Given the description of an element on the screen output the (x, y) to click on. 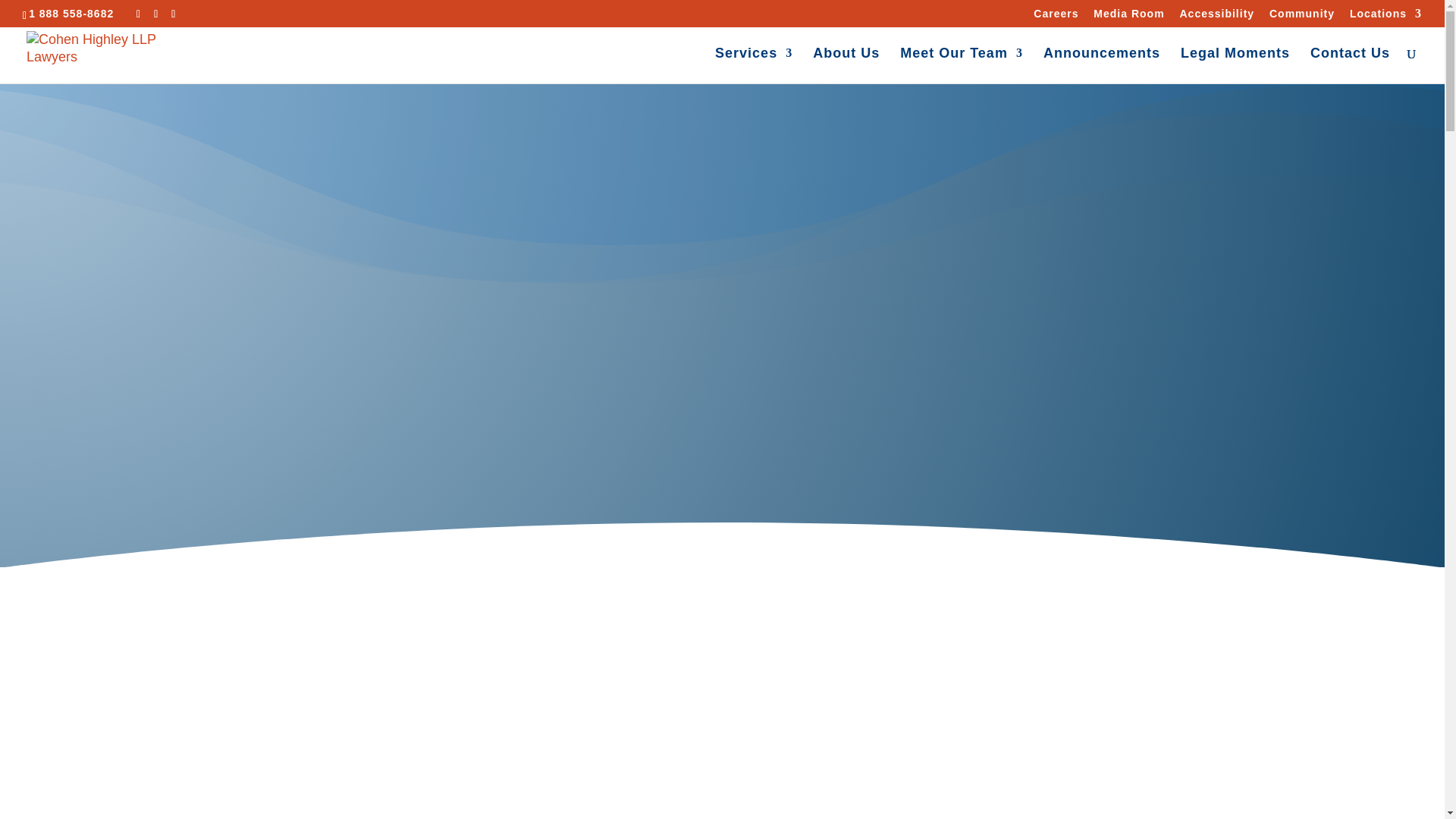
Services (753, 65)
Community (1302, 16)
Careers (1055, 16)
Accessibility (1216, 16)
Media Room (1128, 16)
Locations (1385, 16)
